Given the description of an element on the screen output the (x, y) to click on. 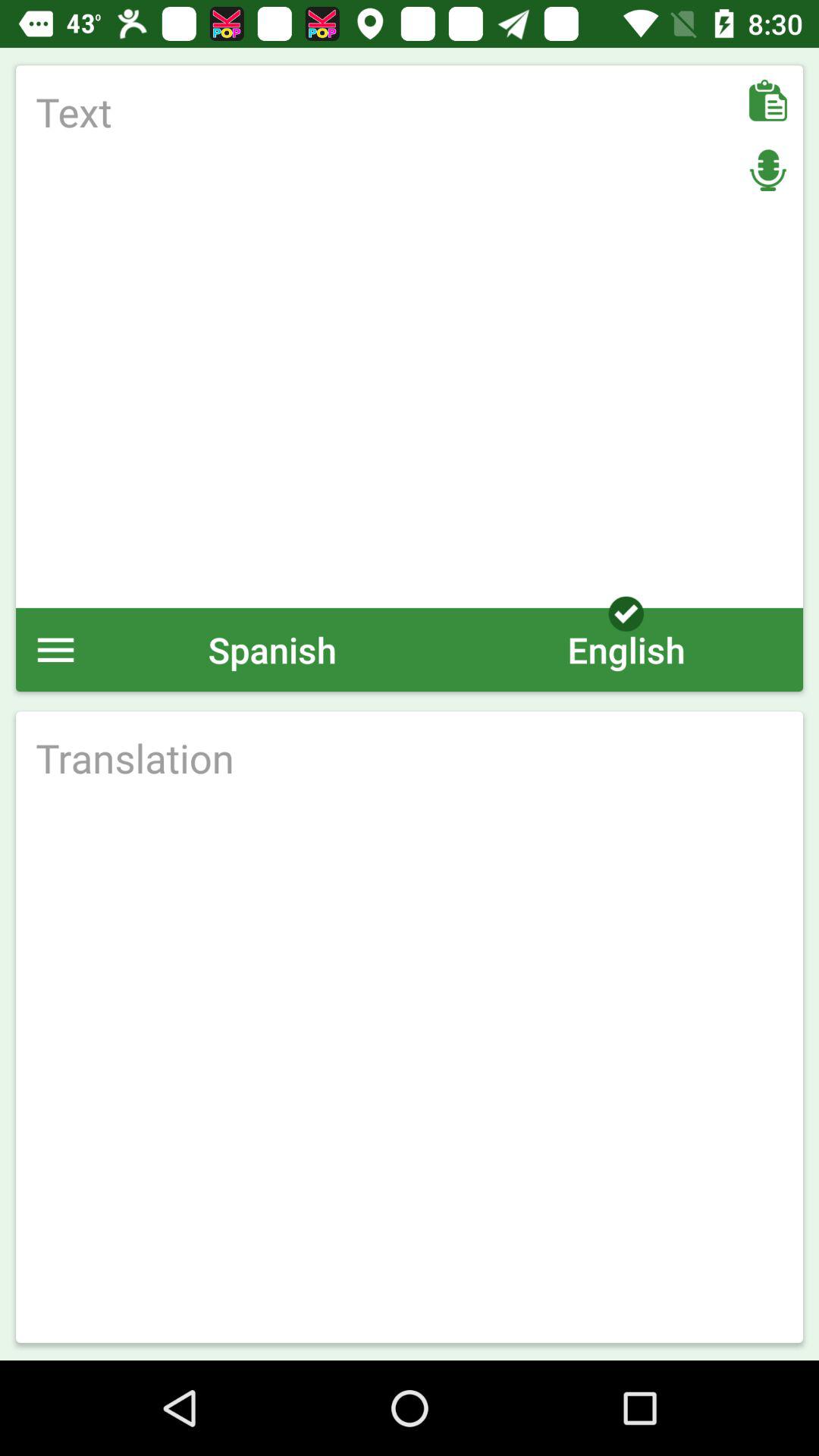
menu (55, 649)
